Given the description of an element on the screen output the (x, y) to click on. 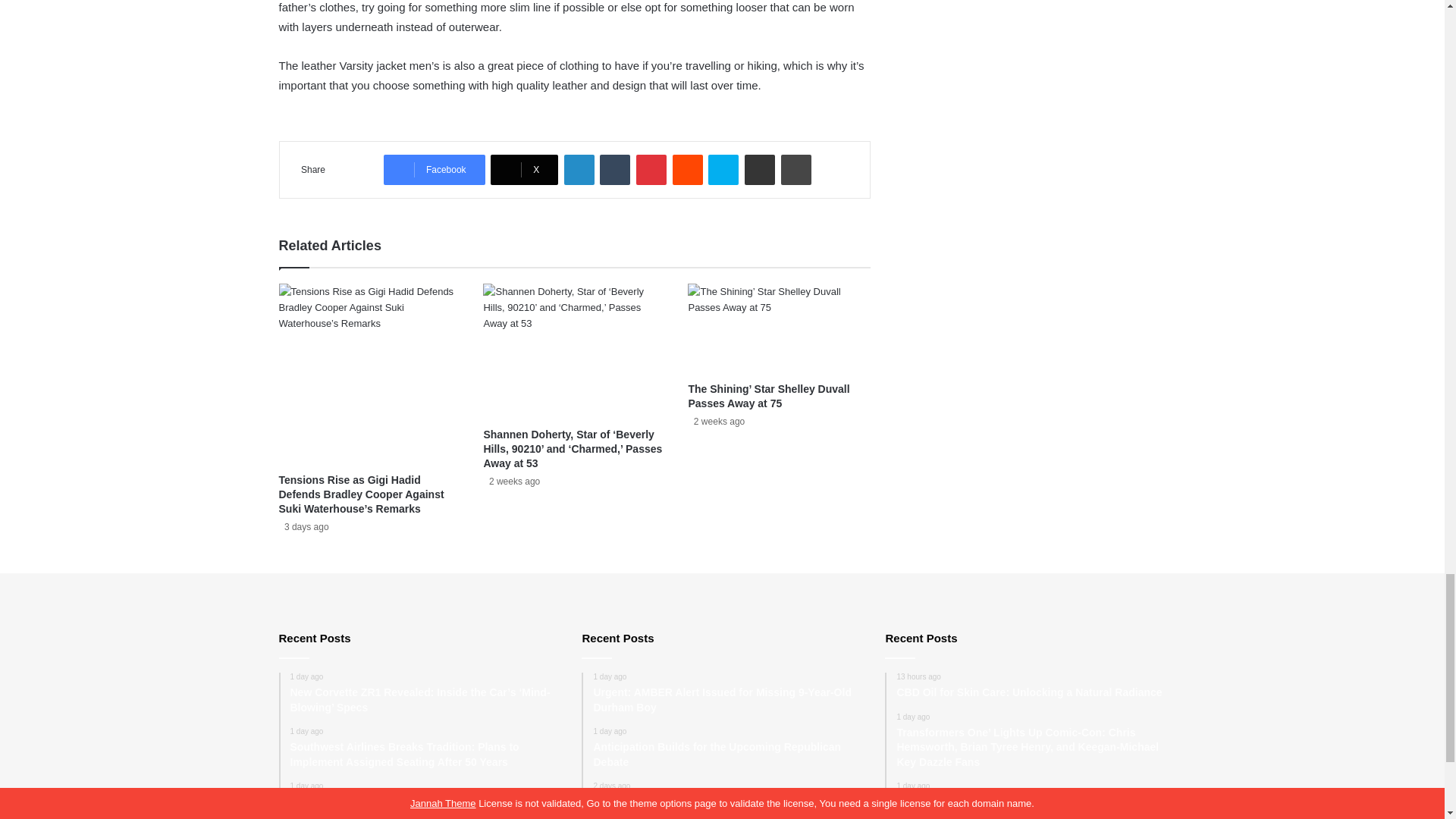
Facebook (434, 169)
LinkedIn (579, 169)
Reddit (687, 169)
X (523, 169)
Tumblr (614, 169)
LinkedIn (579, 169)
Pinterest (651, 169)
Reddit (687, 169)
Tumblr (614, 169)
Facebook (434, 169)
Pinterest (651, 169)
X (523, 169)
Skype (722, 169)
